Given the description of an element on the screen output the (x, y) to click on. 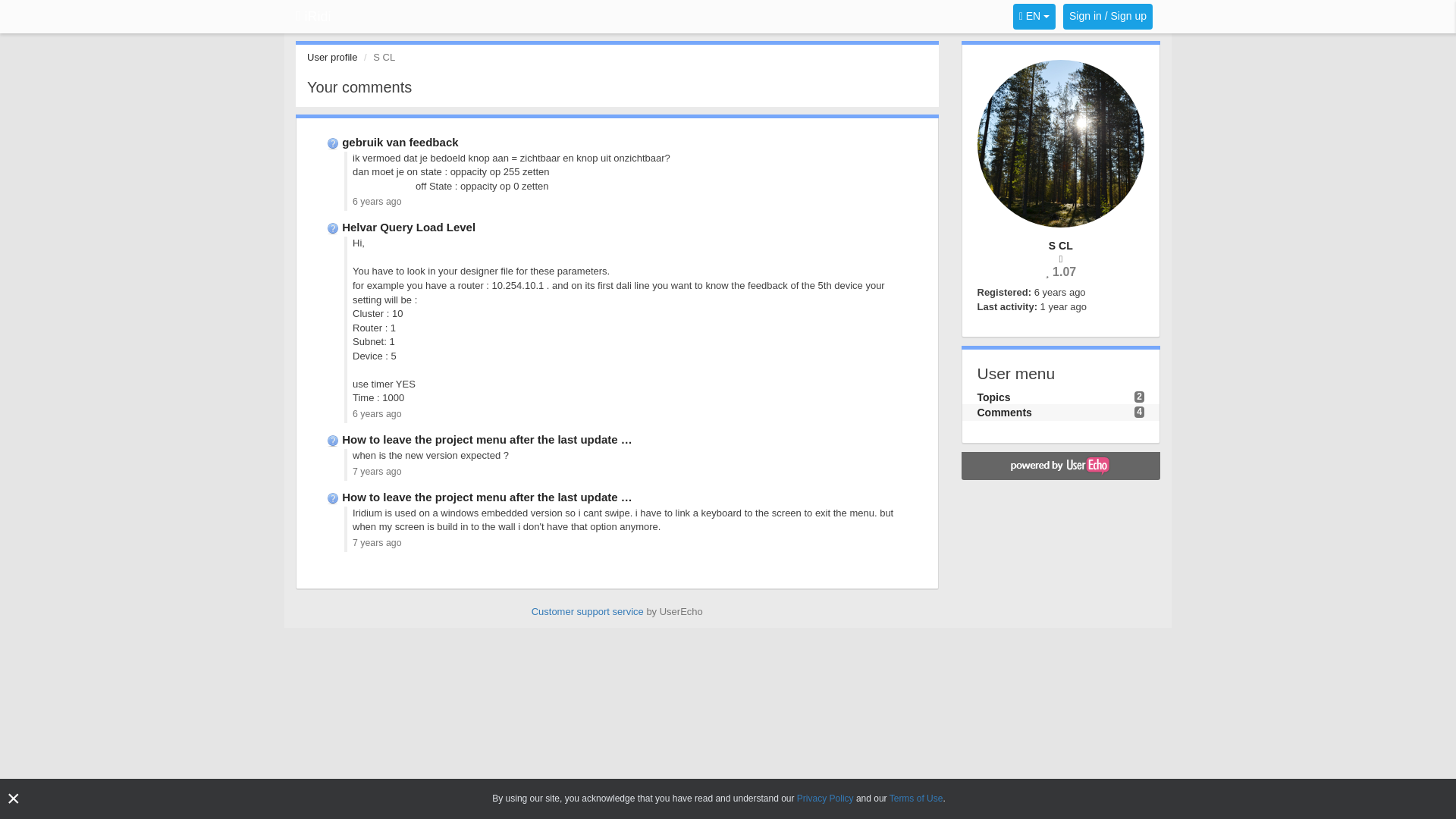
Helvar Query Load Level (409, 226)
Topics (993, 397)
7 years ago (376, 542)
Questions (334, 496)
iRidi (312, 16)
EN (1034, 16)
User profile (331, 57)
Questions (334, 439)
6 years ago (376, 413)
March 31, 2023, 6:54 a.m. (1063, 306)
6 years ago (376, 201)
Privacy Policy (824, 798)
Comments (1003, 412)
Customer support service (587, 611)
June 13, 2018, 5:36 a.m. (1059, 292)
